Given the description of an element on the screen output the (x, y) to click on. 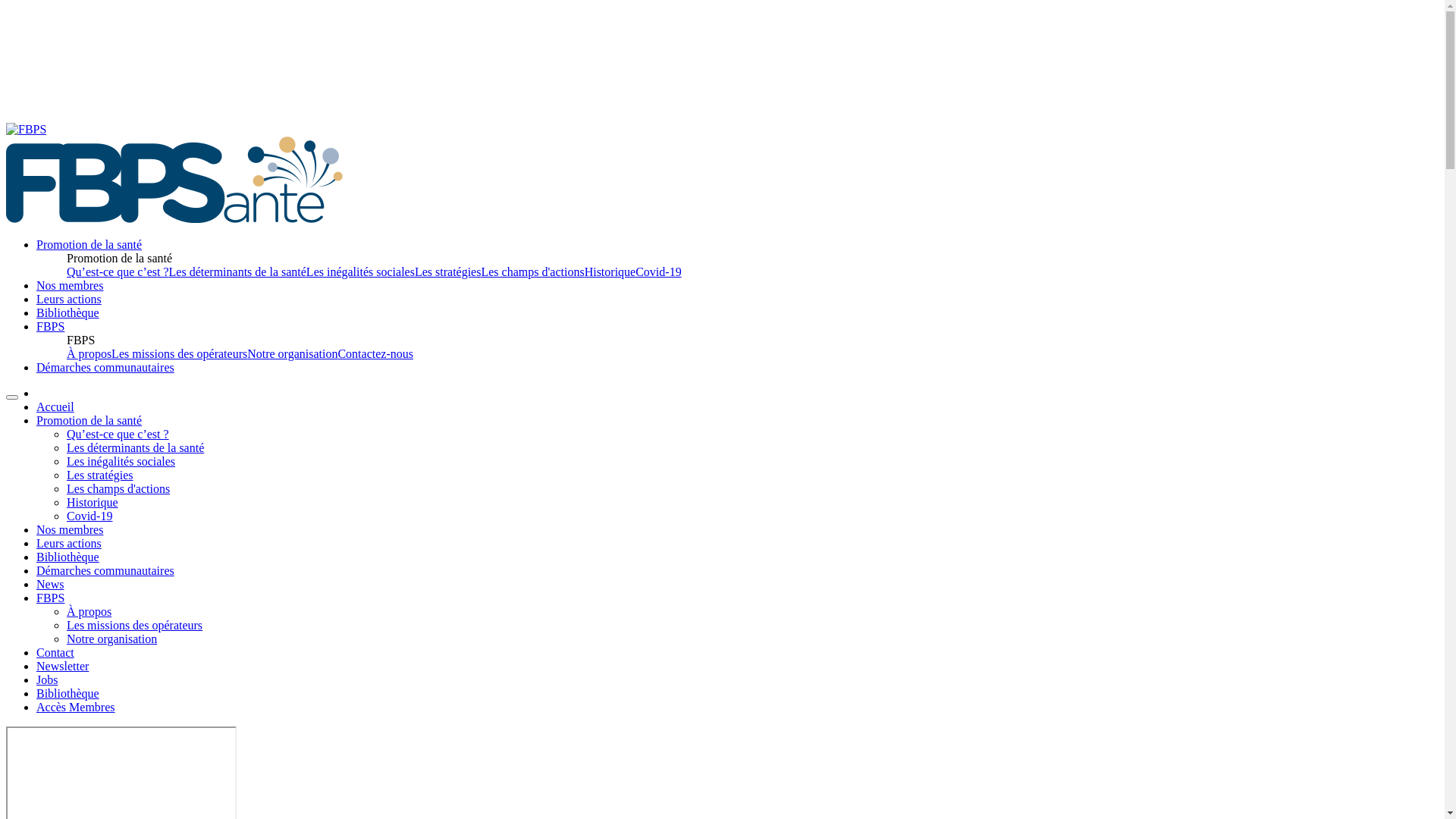
News Element type: text (49, 583)
Covid-19 Element type: text (89, 515)
FBPS Element type: text (50, 326)
Accueil Element type: text (55, 406)
Nos membres Element type: text (69, 285)
Leurs actions Element type: text (68, 542)
Historique Element type: text (610, 271)
Contactez-nous Element type: text (375, 353)
Leurs actions Element type: text (68, 298)
FBPS Element type: text (50, 597)
Les champs d'actions Element type: text (117, 488)
Covid-19 Element type: text (657, 271)
Notre organisation Element type: text (111, 638)
Historique Element type: text (92, 501)
Notre organisation Element type: text (292, 353)
Nos membres Element type: text (69, 529)
Jobs Element type: text (46, 679)
Contact Element type: text (55, 652)
Newsletter Element type: text (62, 665)
Les champs d'actions Element type: text (531, 271)
